Given the description of an element on the screen output the (x, y) to click on. 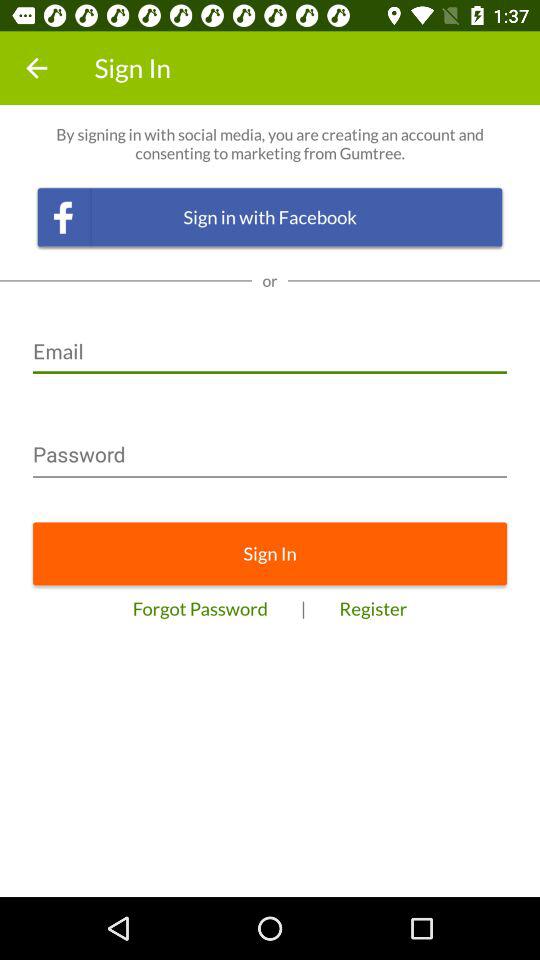
scroll to the forgot password item (199, 608)
